Given the description of an element on the screen output the (x, y) to click on. 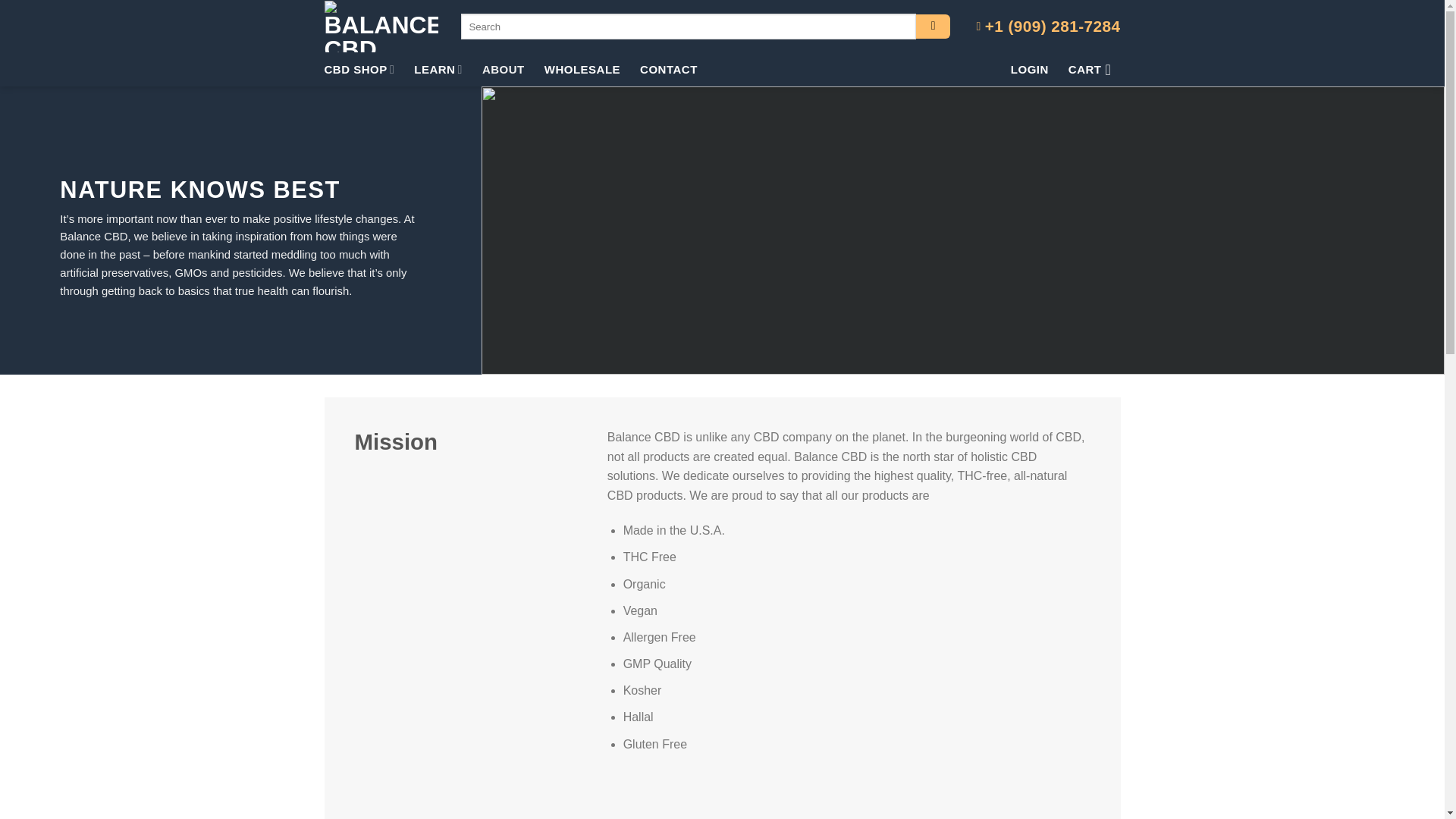
CART (1094, 69)
CONTACT (668, 69)
CBD SHOP (359, 69)
WHOLESALE (582, 69)
LEARN (438, 69)
Search (932, 26)
LOGIN (1029, 69)
ABOUT (502, 69)
Cart (1094, 69)
Login (1029, 69)
